Given the description of an element on the screen output the (x, y) to click on. 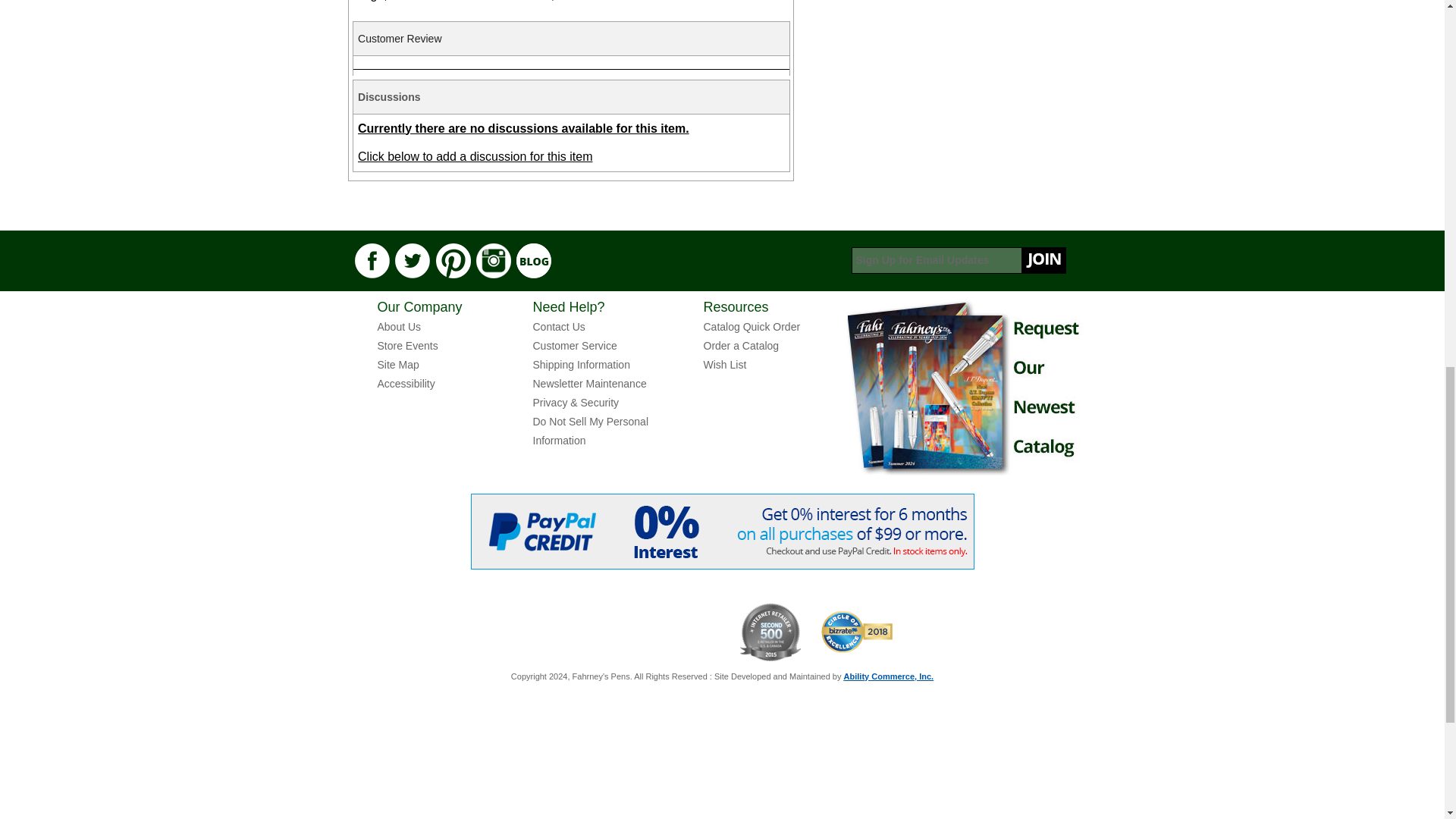
Sign Up for Email Updates (957, 260)
